Given the description of an element on the screen output the (x, y) to click on. 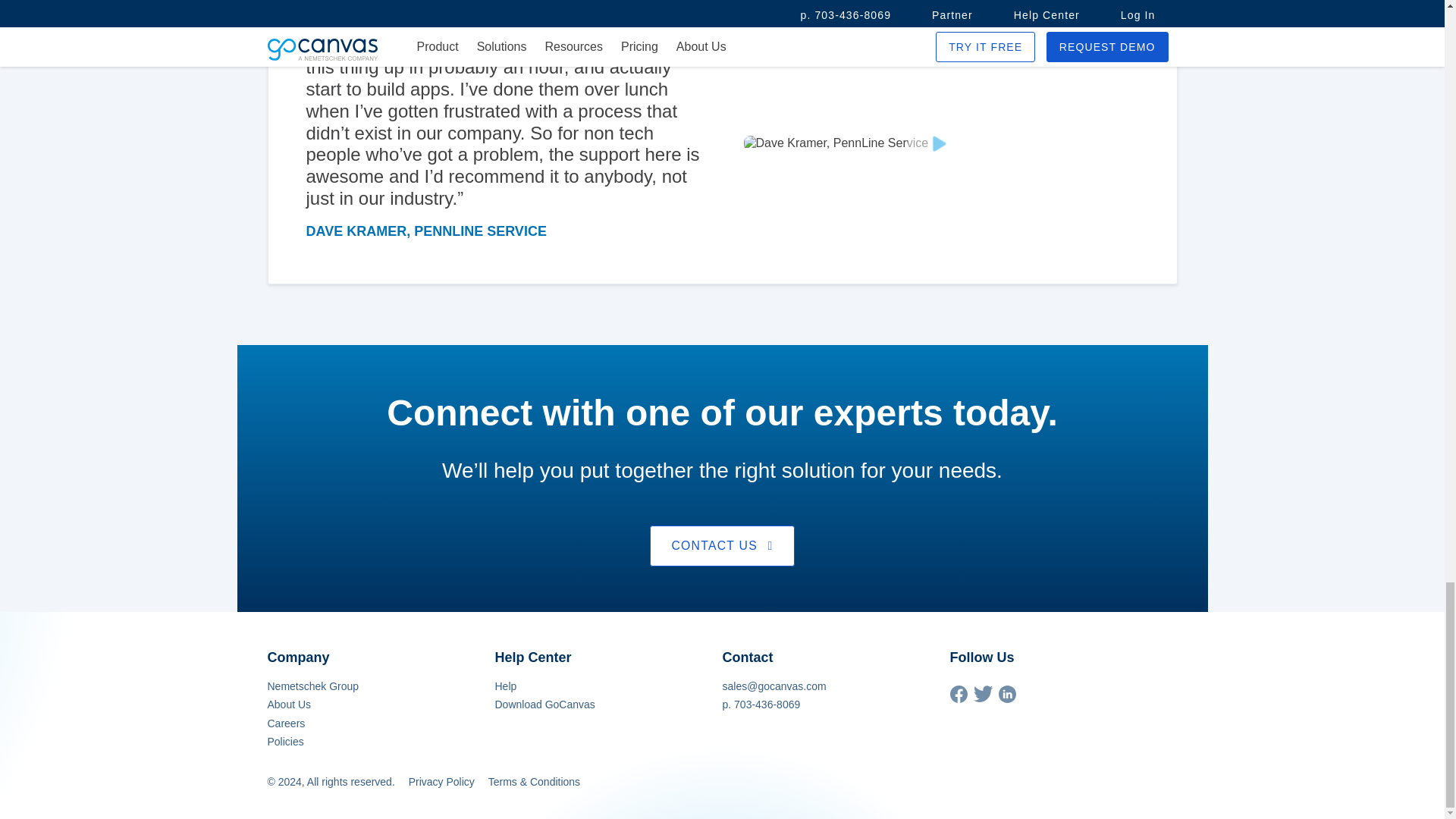
GoCanvas Facebook (957, 698)
GoCanvas Twitter (982, 698)
GoCanvas LinkedIn (1005, 698)
